Given the description of an element on the screen output the (x, y) to click on. 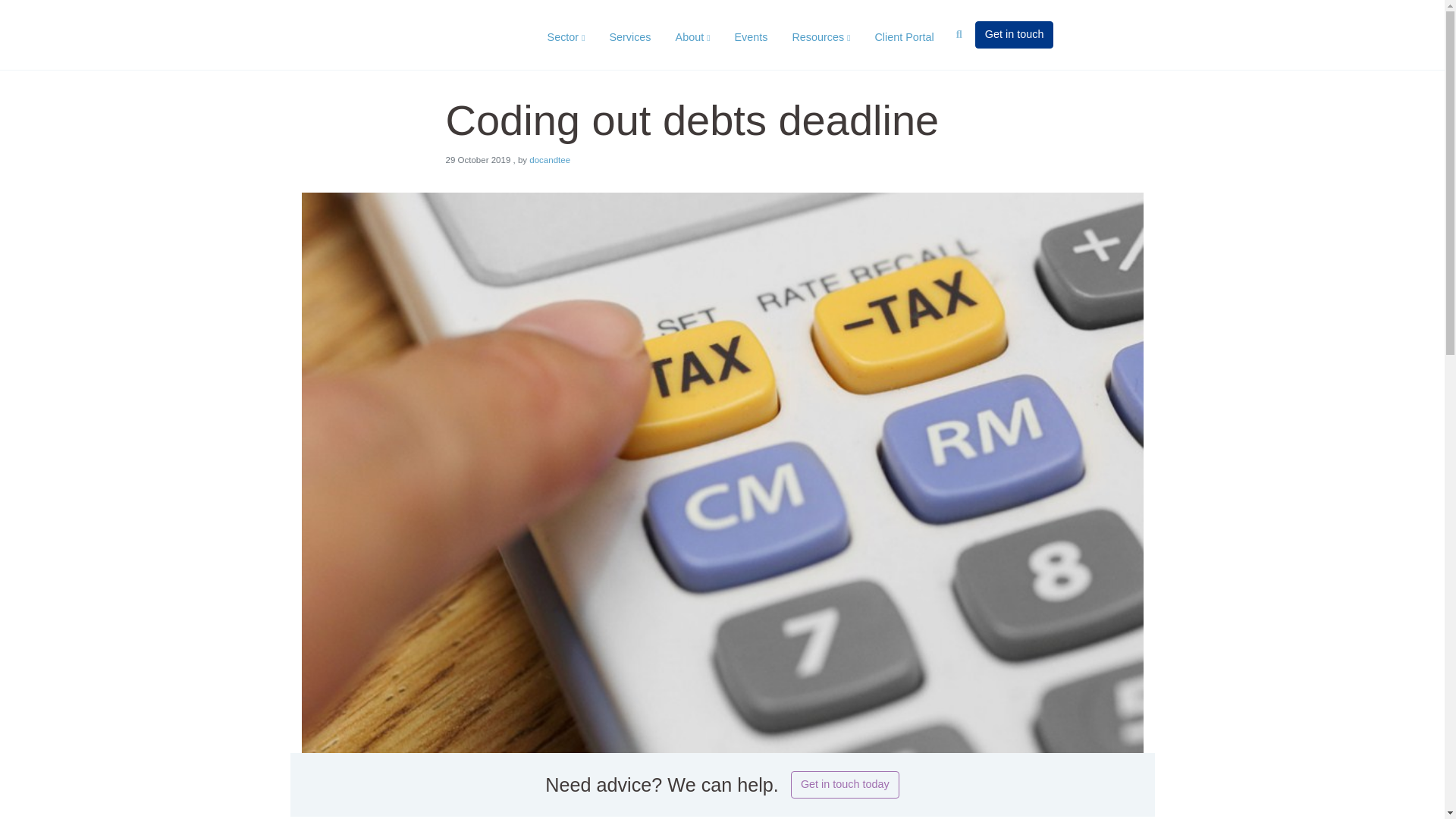
Sector (565, 37)
Services (629, 37)
Get in touch (1014, 34)
Events (750, 37)
Sector (565, 37)
Resources (819, 37)
Resources (819, 37)
Get in touch today (844, 784)
About (692, 37)
About (692, 37)
